Given the description of an element on the screen output the (x, y) to click on. 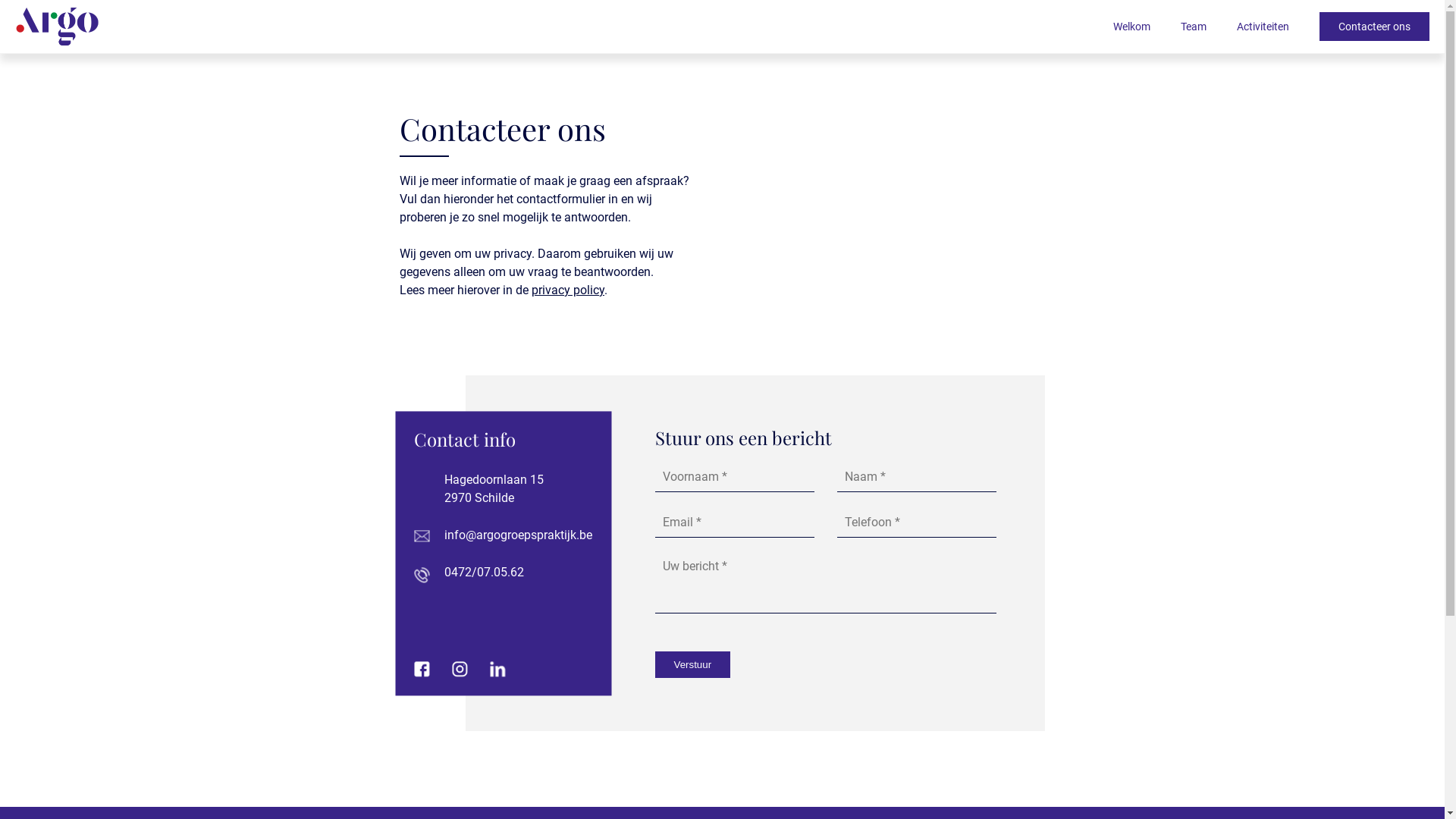
Welkom Element type: text (1131, 26)
privacy policy Element type: text (567, 289)
Contacteer ons Element type: text (1374, 26)
Activiteiten Element type: text (1262, 26)
Verstuur Element type: text (693, 664)
info@argogroepspraktijk.be Element type: text (518, 535)
Team Element type: text (1193, 26)
